Given the description of an element on the screen output the (x, y) to click on. 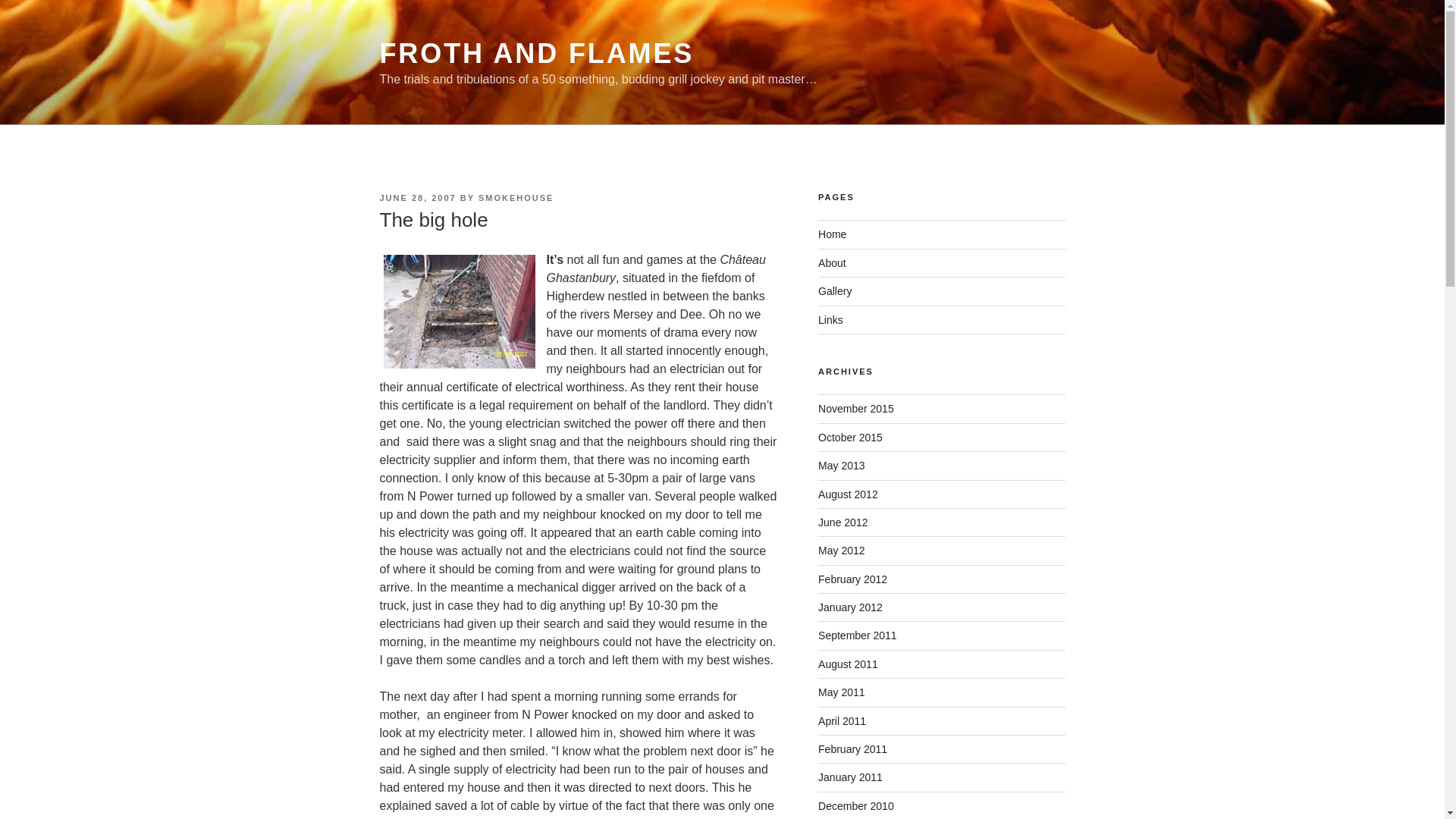
May 2012 (841, 550)
August 2012 (847, 494)
JUNE 28, 2007 (416, 197)
April 2011 (842, 720)
January 2012 (850, 607)
Links (830, 319)
January 2011 (850, 776)
May 2011 (841, 692)
February 2011 (852, 748)
November 2015 (855, 408)
